Given the description of an element on the screen output the (x, y) to click on. 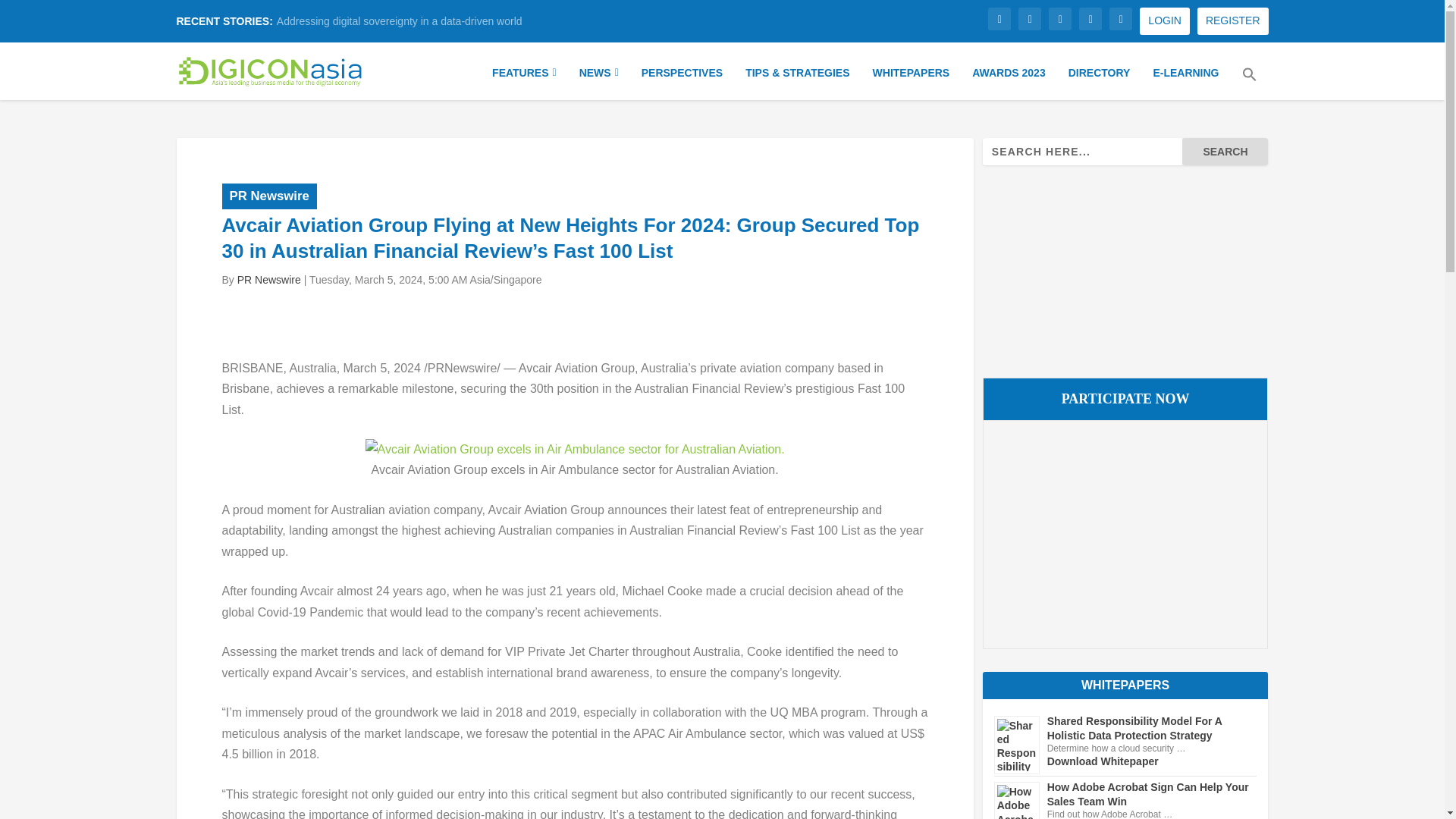
REGISTER (1232, 21)
E-LEARNING (1185, 80)
Posts by PR Newswire (269, 279)
Addressing digital sovereignty in a data-driven world (399, 21)
LOGIN (1164, 21)
AWARDS 2023 (1008, 80)
WHITEPAPERS (911, 80)
PERSPECTIVES (682, 80)
FEATURES (524, 80)
